Given the description of an element on the screen output the (x, y) to click on. 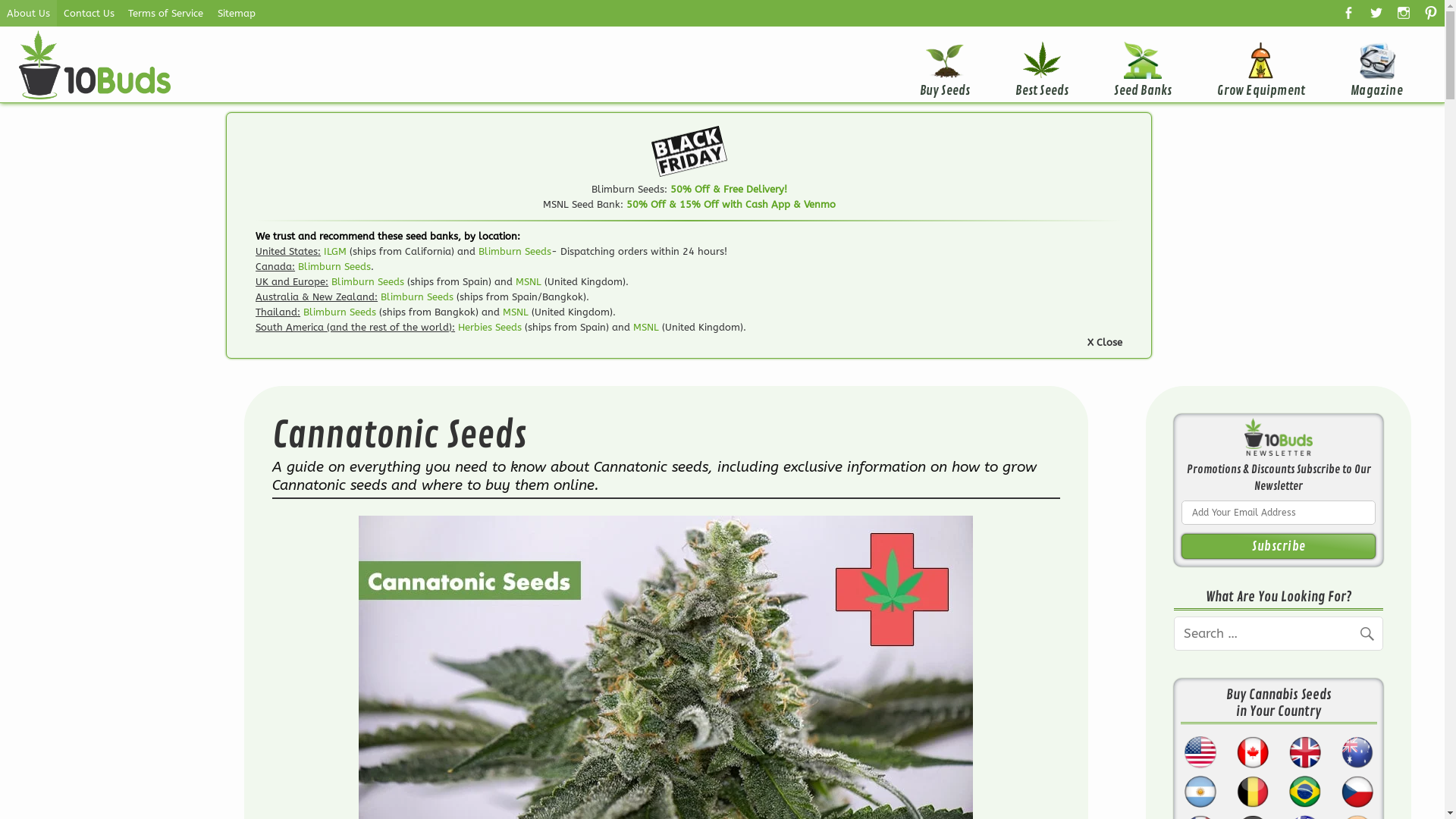
Magazine Element type: text (1376, 64)
Blimburn Seeds Element type: text (367, 281)
Belgium Element type: hover (1252, 788)
United Kingdom Element type: hover (1304, 748)
Buy Seeds Element type: text (945, 64)
Argentina Element type: hover (1199, 788)
Blimburn Seeds Element type: text (416, 296)
Blimburn Seeds Element type: text (334, 266)
MSNL Element type: text (645, 326)
Canada Element type: hover (1252, 748)
Subscribe Element type: text (1278, 545)
United States Element type: hover (1199, 748)
50% Off & Free Delivery! Element type: text (728, 188)
10Buds Element type: text (236, 60)
MSNL Element type: text (515, 311)
50% Off & 15% Off with Cash App & Venmo Element type: text (730, 204)
Herbies Seeds Element type: text (489, 326)
Czech Republic Element type: hover (1356, 788)
ILGM Element type: text (334, 251)
Best Seeds Element type: text (1041, 64)
Brazil Element type: hover (1304, 788)
Seed Banks Element type: text (1142, 64)
Grow Equipment Element type: text (1260, 64)
MSNL Element type: text (528, 281)
Blimburn Seeds Element type: text (514, 251)
Australia Element type: hover (1356, 748)
Blimburn Seeds Element type: text (339, 311)
